Given the description of an element on the screen output the (x, y) to click on. 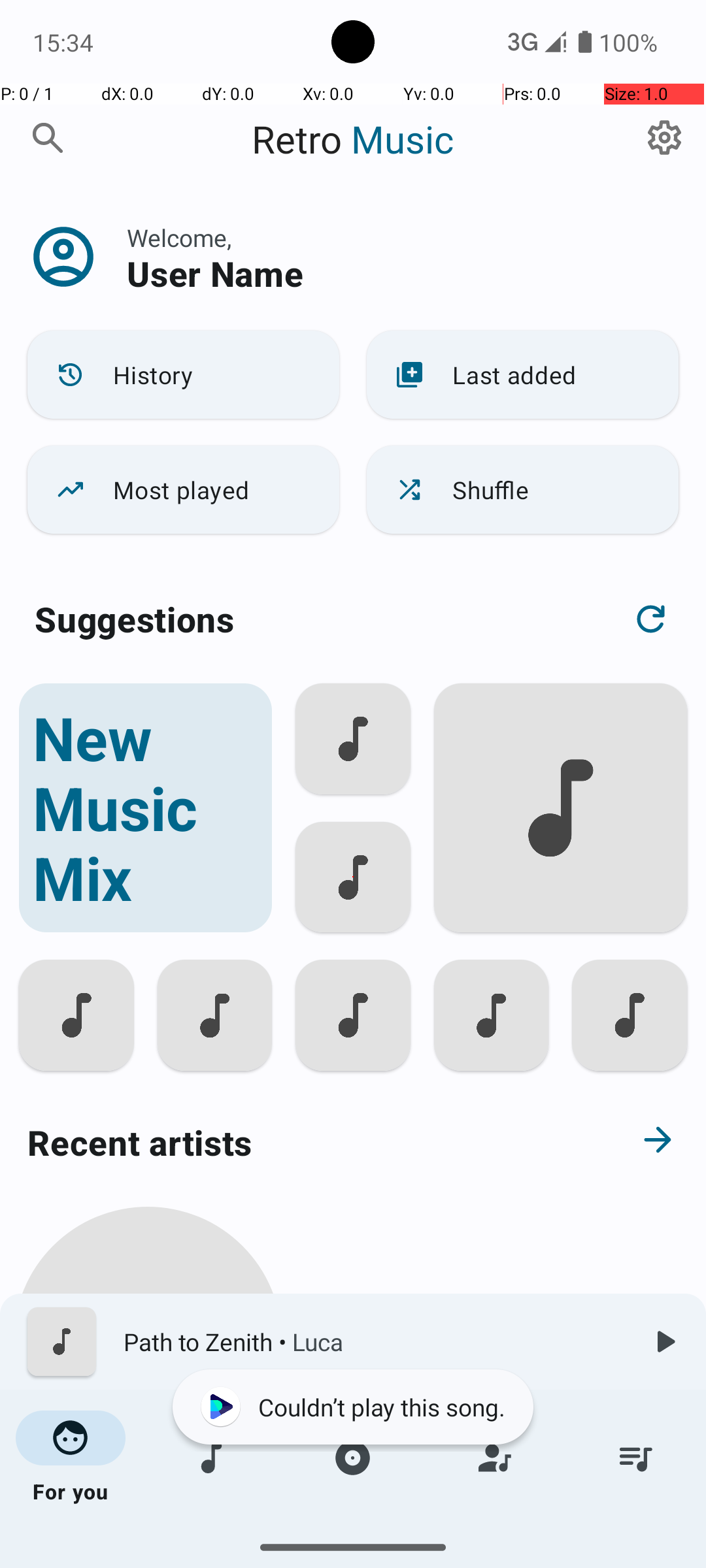
Path to Zenith • Luca Element type: android.widget.TextView (372, 1341)
Sophie Element type: android.widget.TextView (147, 1503)
